Given the description of an element on the screen output the (x, y) to click on. 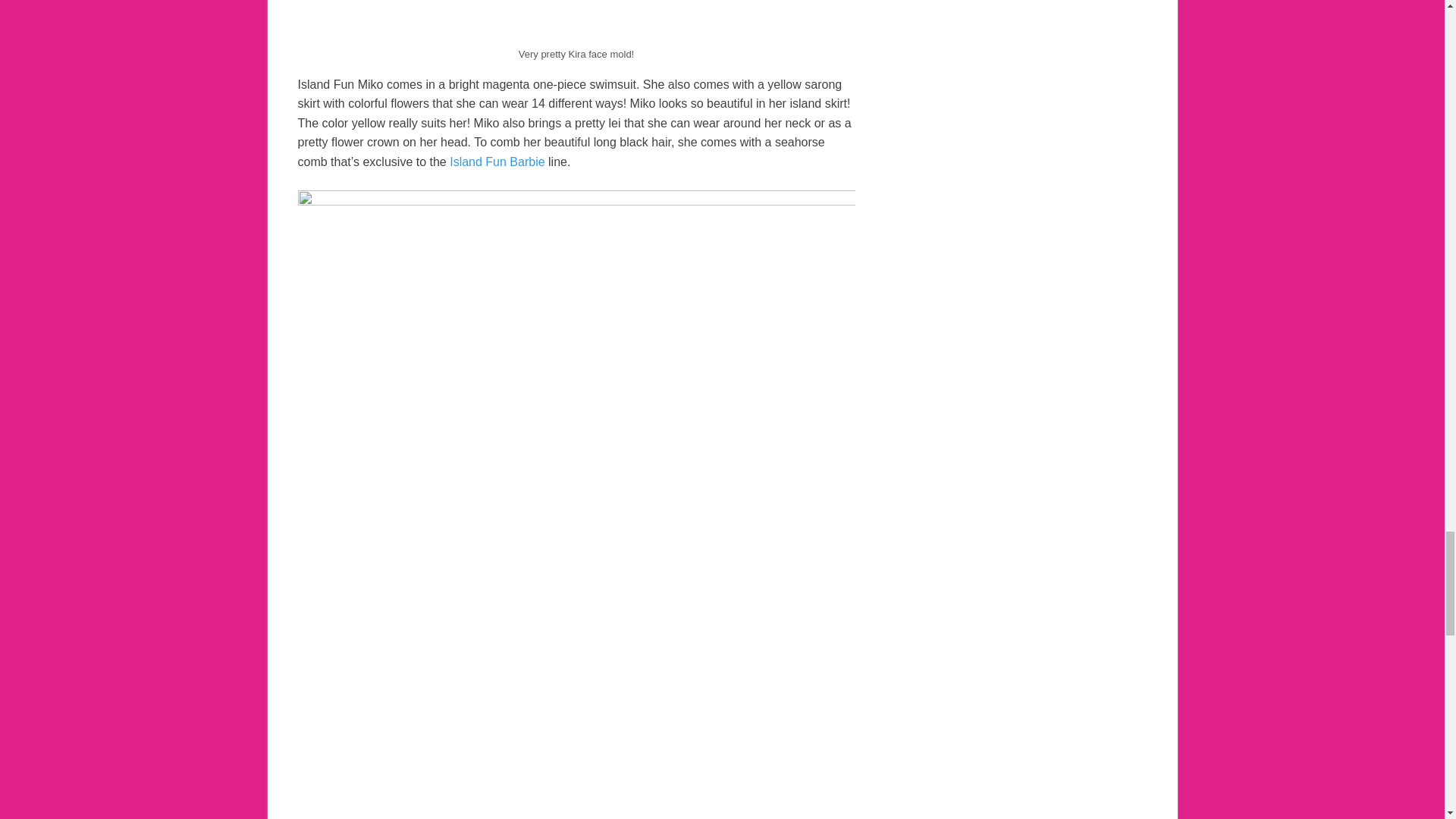
Island Fun Barbie (496, 161)
